Given the description of an element on the screen output the (x, y) to click on. 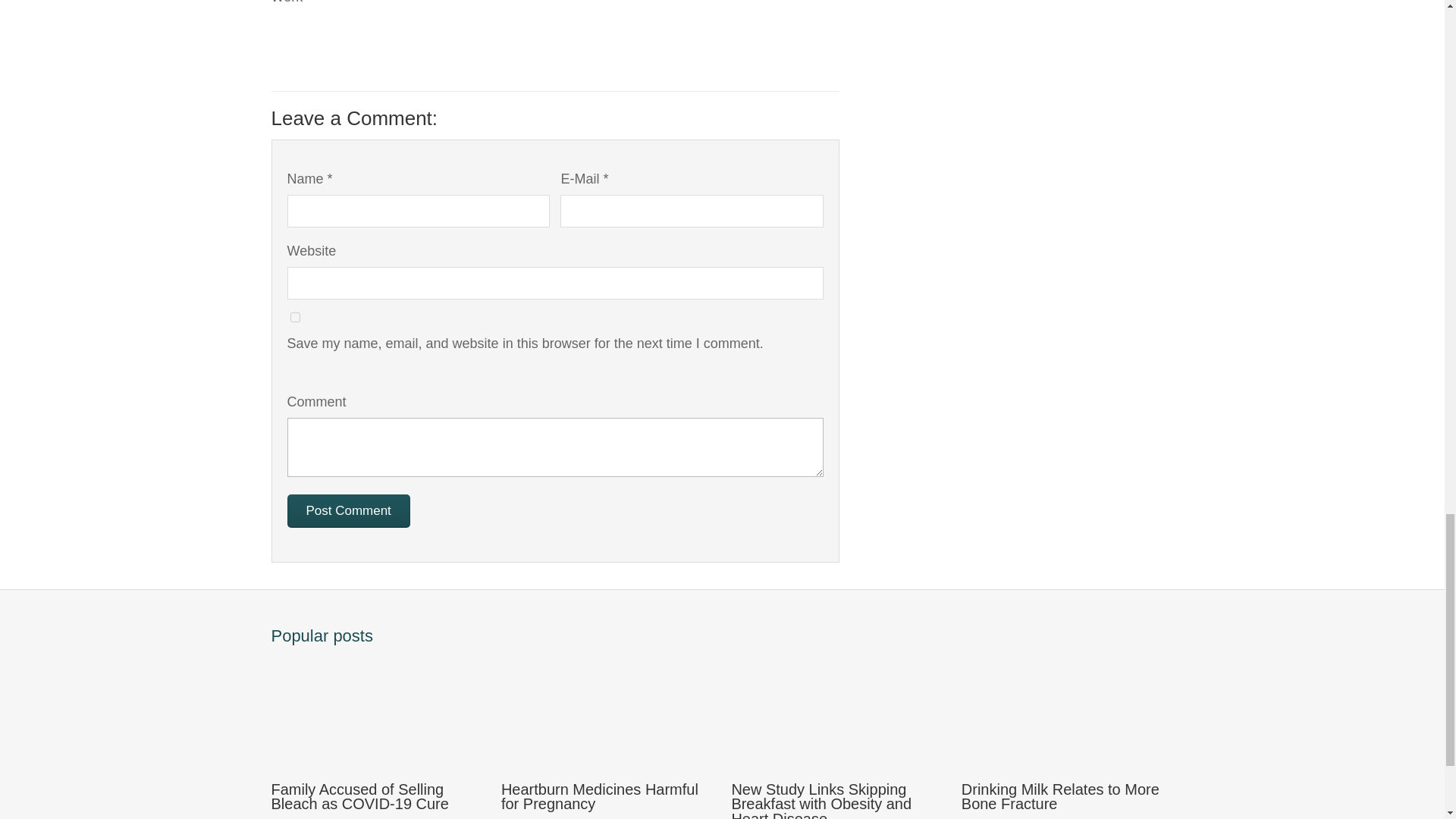
Family Accused of Selling Bleach as COVID-19 Cure (376, 733)
yes (294, 317)
Post Comment (347, 510)
Heartburn Medicines Harmful for Pregnancy (606, 733)
Post Comment (347, 510)
